Given the description of an element on the screen output the (x, y) to click on. 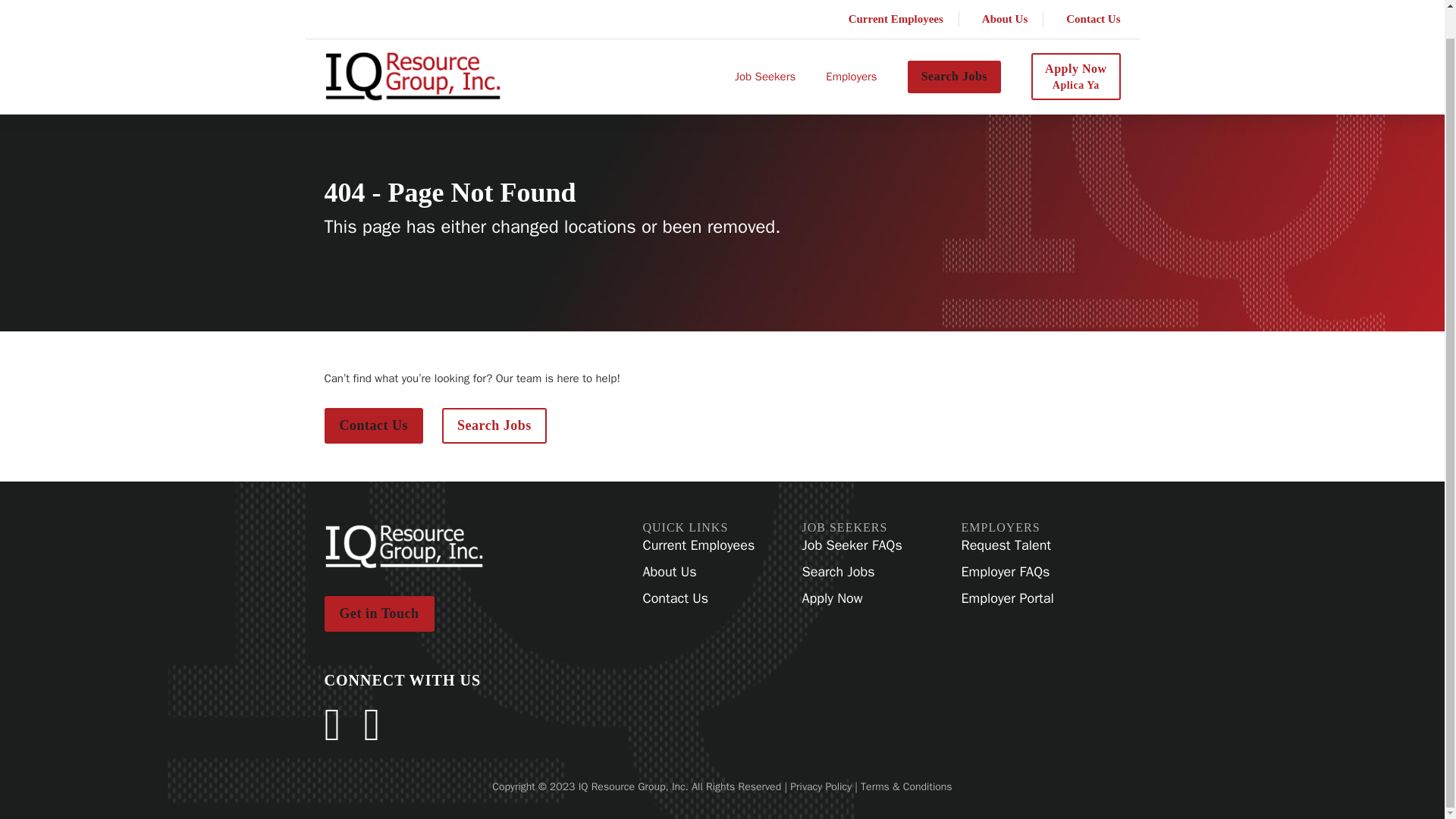
Get in Touch (378, 613)
About Us (699, 571)
Request Talent (1007, 545)
Apply Now (852, 598)
Job Seekers (764, 48)
Contact Us (699, 598)
Job Seeker FAQs (1074, 47)
Current Employees (852, 545)
Employer Portal (699, 545)
Employers (1007, 598)
Contact Us (850, 48)
Search Jobs (373, 425)
Search Jobs (954, 47)
Employer FAQs (494, 425)
